Given the description of an element on the screen output the (x, y) to click on. 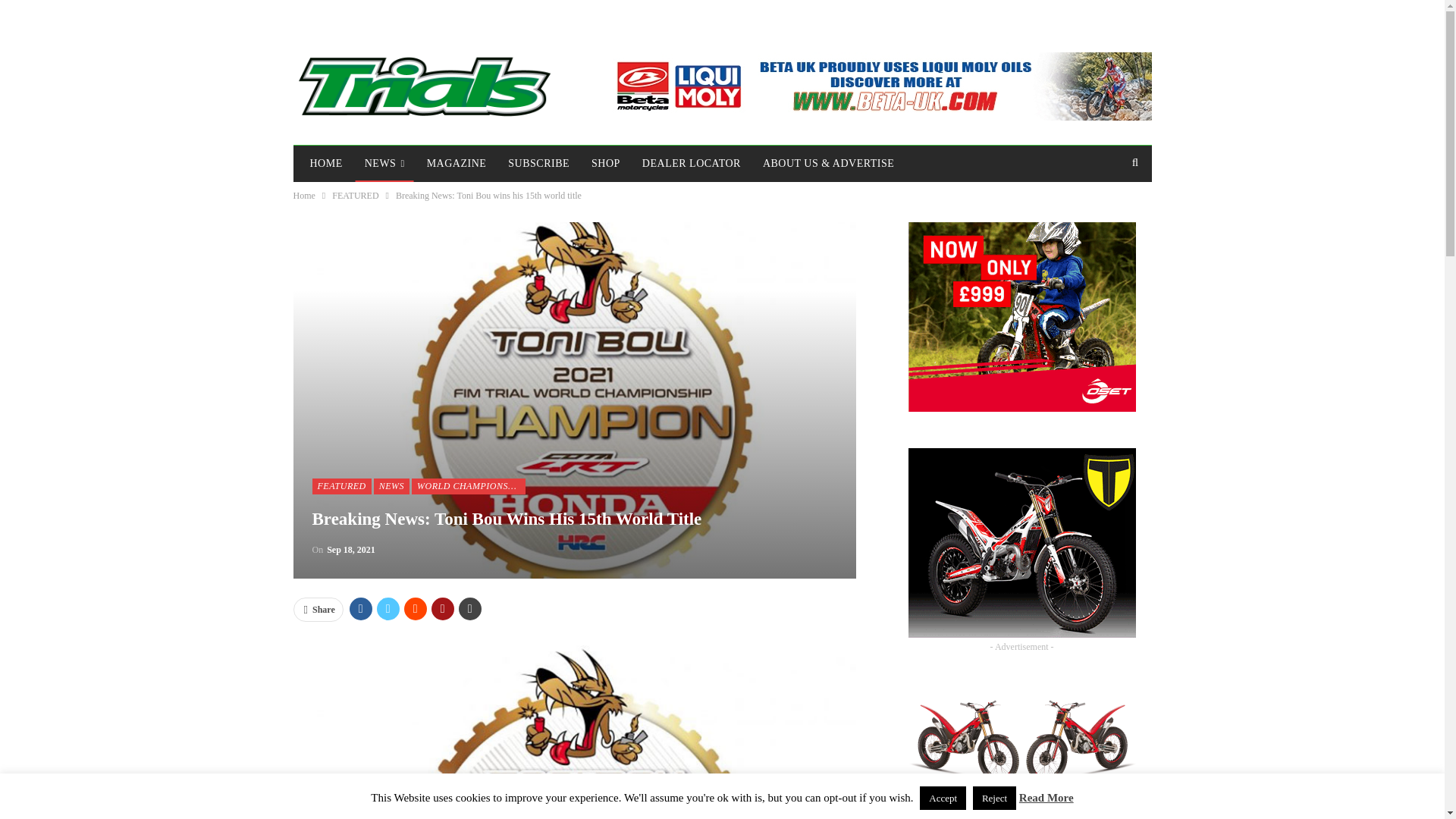
DEALER LOCATOR (691, 163)
FEATURED (354, 195)
FEATURED (342, 485)
WORLD CHAMPIONSHIP (468, 485)
SHOP (605, 163)
Home (303, 195)
SUBSCRIBE (538, 163)
HOME (324, 163)
NEWS (391, 485)
NEWS (384, 163)
MAGAZINE (456, 163)
